Given the description of an element on the screen output the (x, y) to click on. 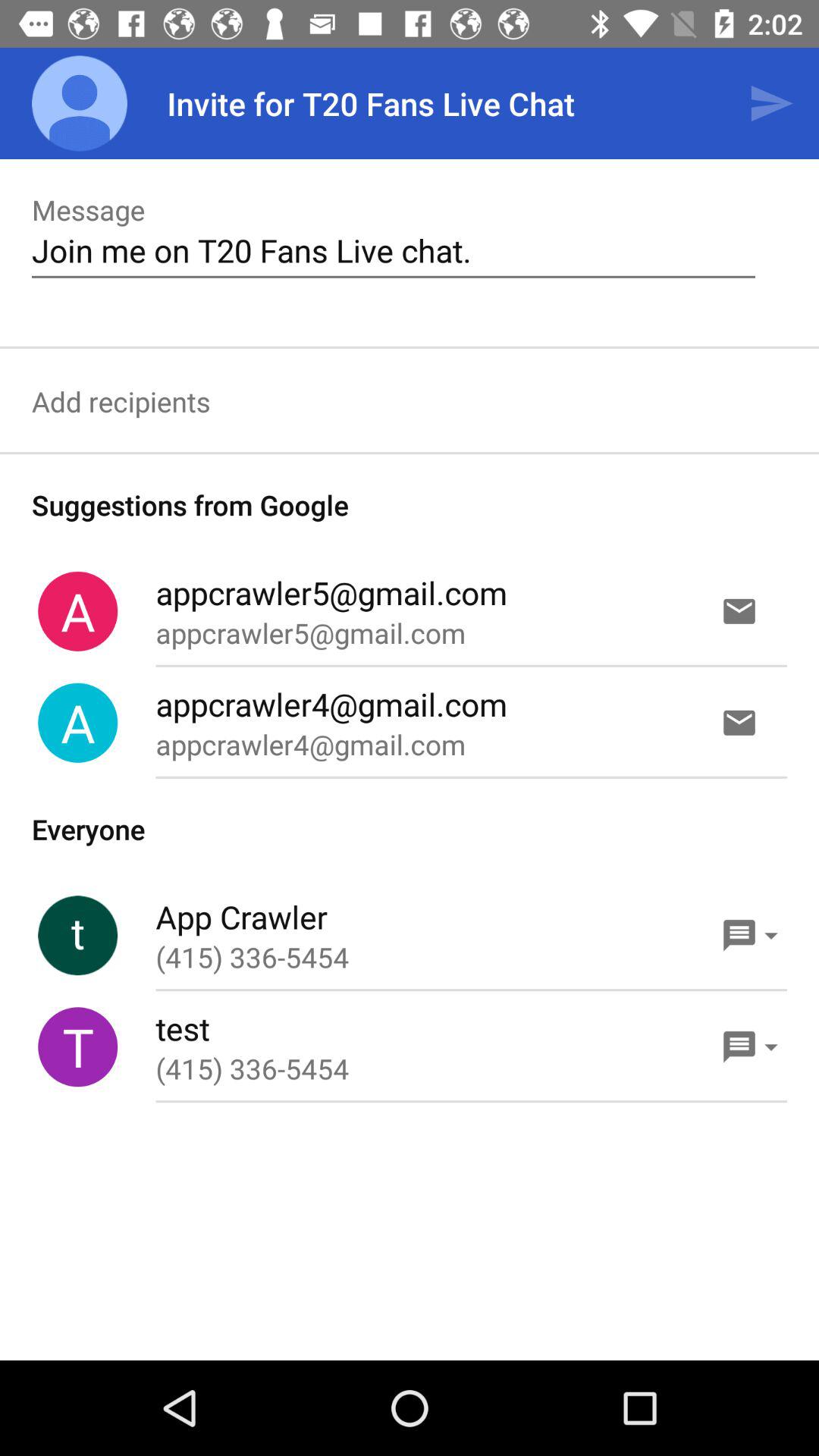
launch the icon next to invite for t20 item (771, 103)
